Given the description of an element on the screen output the (x, y) to click on. 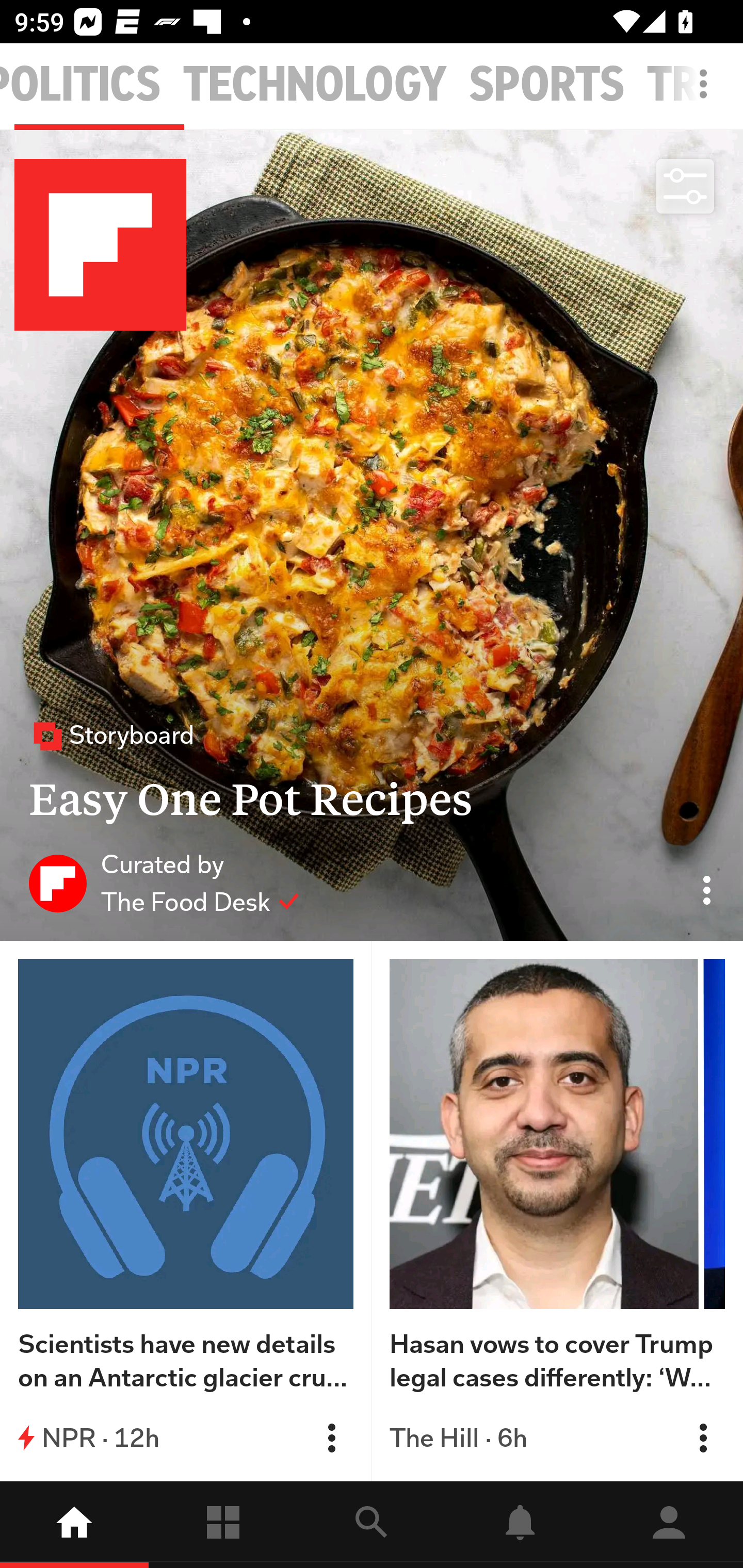
TECHNOLOGY (315, 84)
SPORTS (546, 84)
More options (706, 93)
Curated by The Food Desk (163, 882)
NPR · 12h Flip into Magazine (185, 1437)
The Hill · 6h Flip into Magazine (557, 1437)
Flip into Magazine (331, 1437)
Flip into Magazine (703, 1437)
home (74, 1524)
Following (222, 1524)
explore (371, 1524)
Notifications (519, 1524)
Profile (668, 1524)
